Given the description of an element on the screen output the (x, y) to click on. 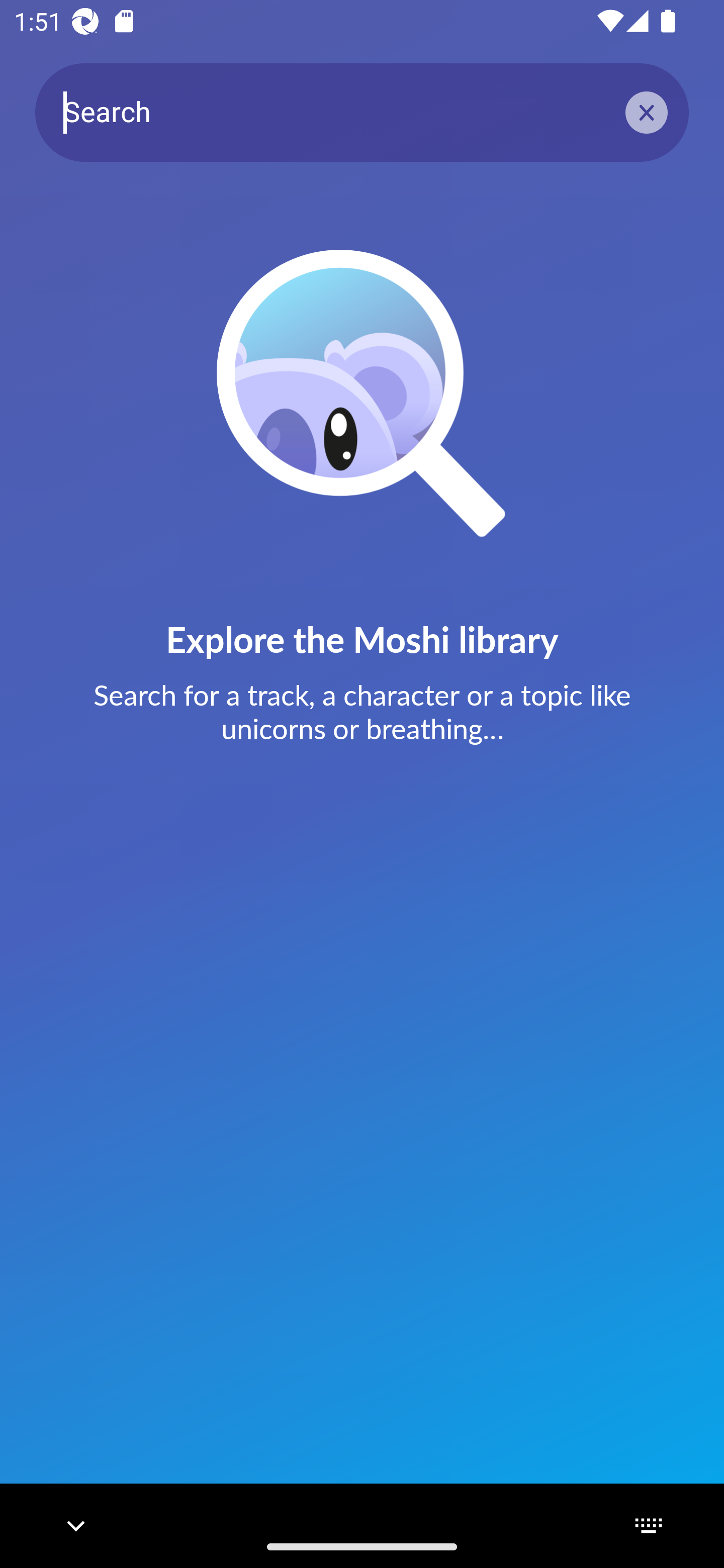
Search (361, 111)
